Given the description of an element on the screen output the (x, y) to click on. 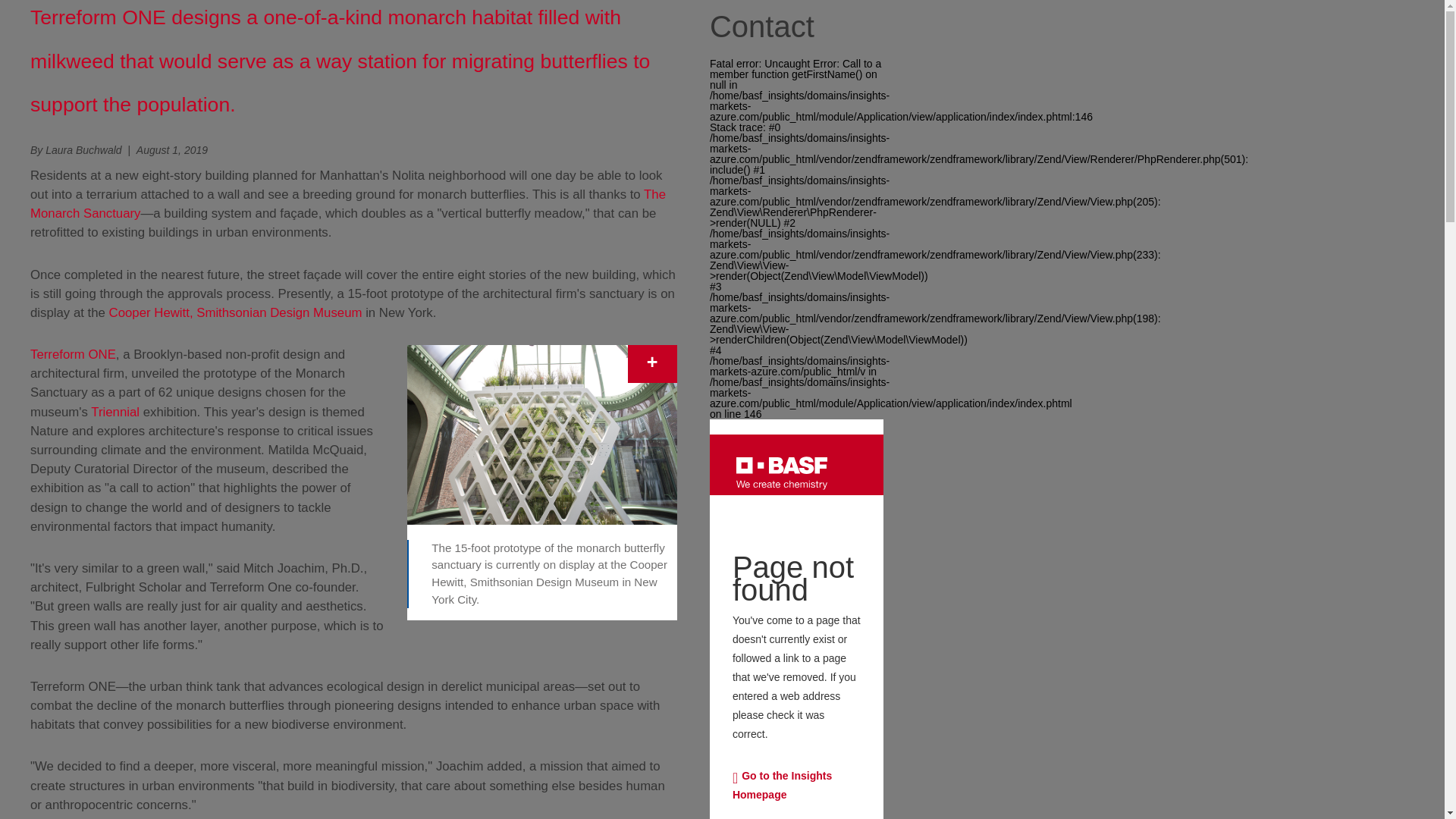
Go to the Insights Homepage (796, 785)
Cooper Hewitt, Smithsonian Design Museum (235, 312)
Terreform ONE (73, 354)
The Monarch Sanctuary (347, 203)
Triennial (114, 411)
